Given the description of an element on the screen output the (x, y) to click on. 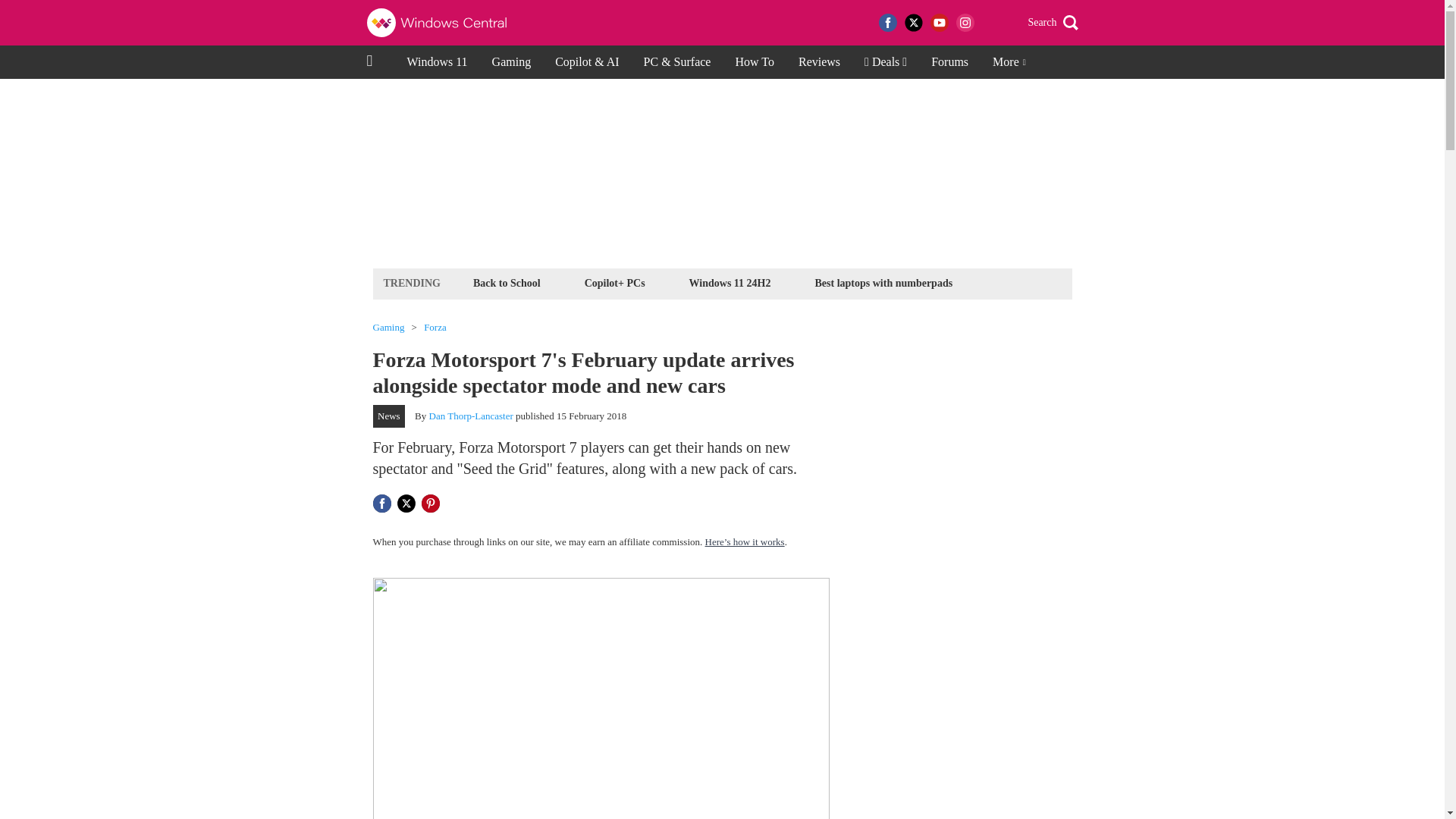
RSS (990, 22)
News (389, 415)
Back to School (506, 282)
Gaming (511, 61)
Windows 11 (436, 61)
Dan Thorp-Lancaster (471, 415)
Gaming (388, 327)
Forums (948, 61)
Windows 11 24H2 (730, 282)
Reviews (818, 61)
